Given the description of an element on the screen output the (x, y) to click on. 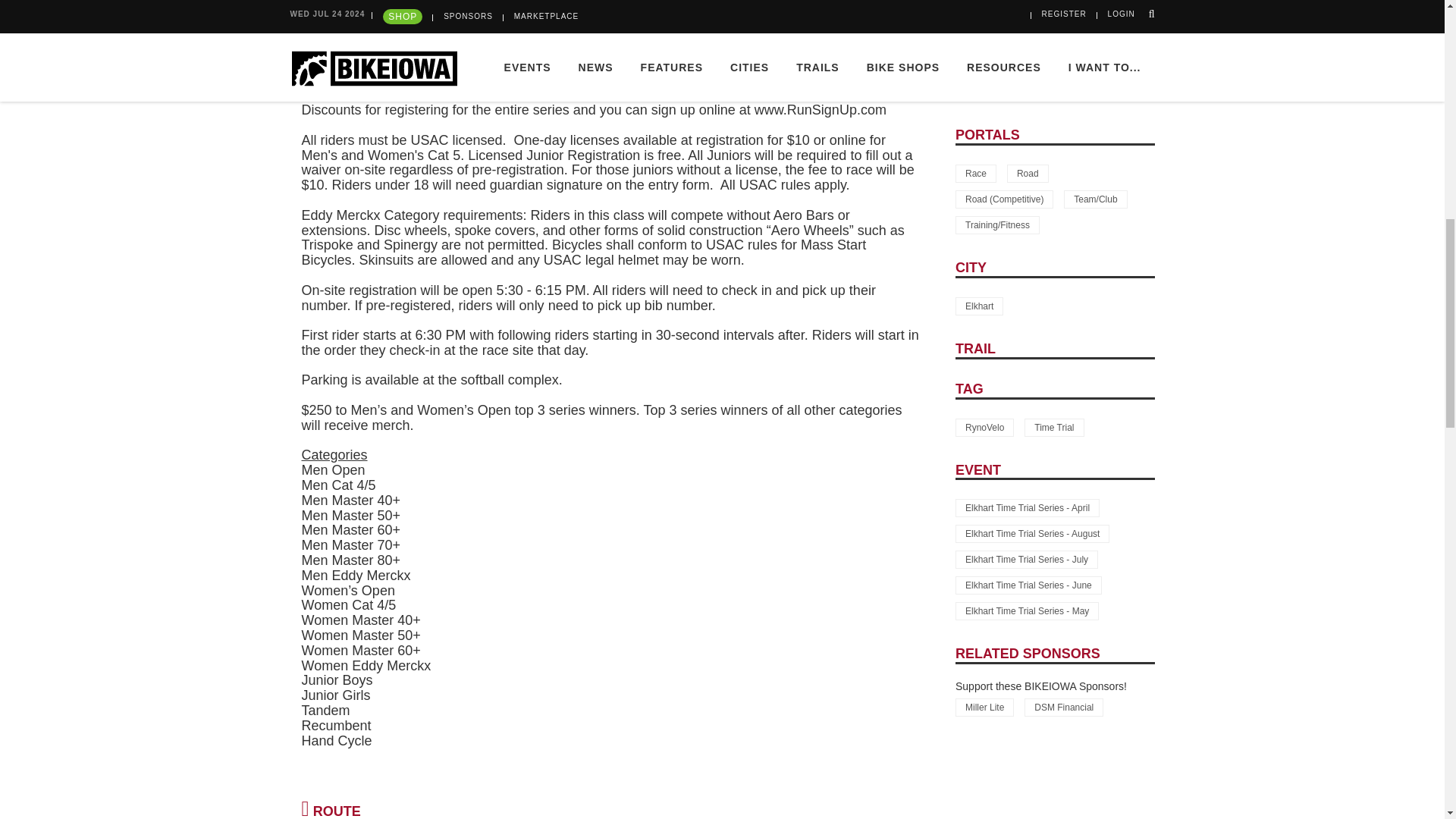
View details about Miller Lite (984, 707)
View details about DSM Financial (1064, 707)
